Given the description of an element on the screen output the (x, y) to click on. 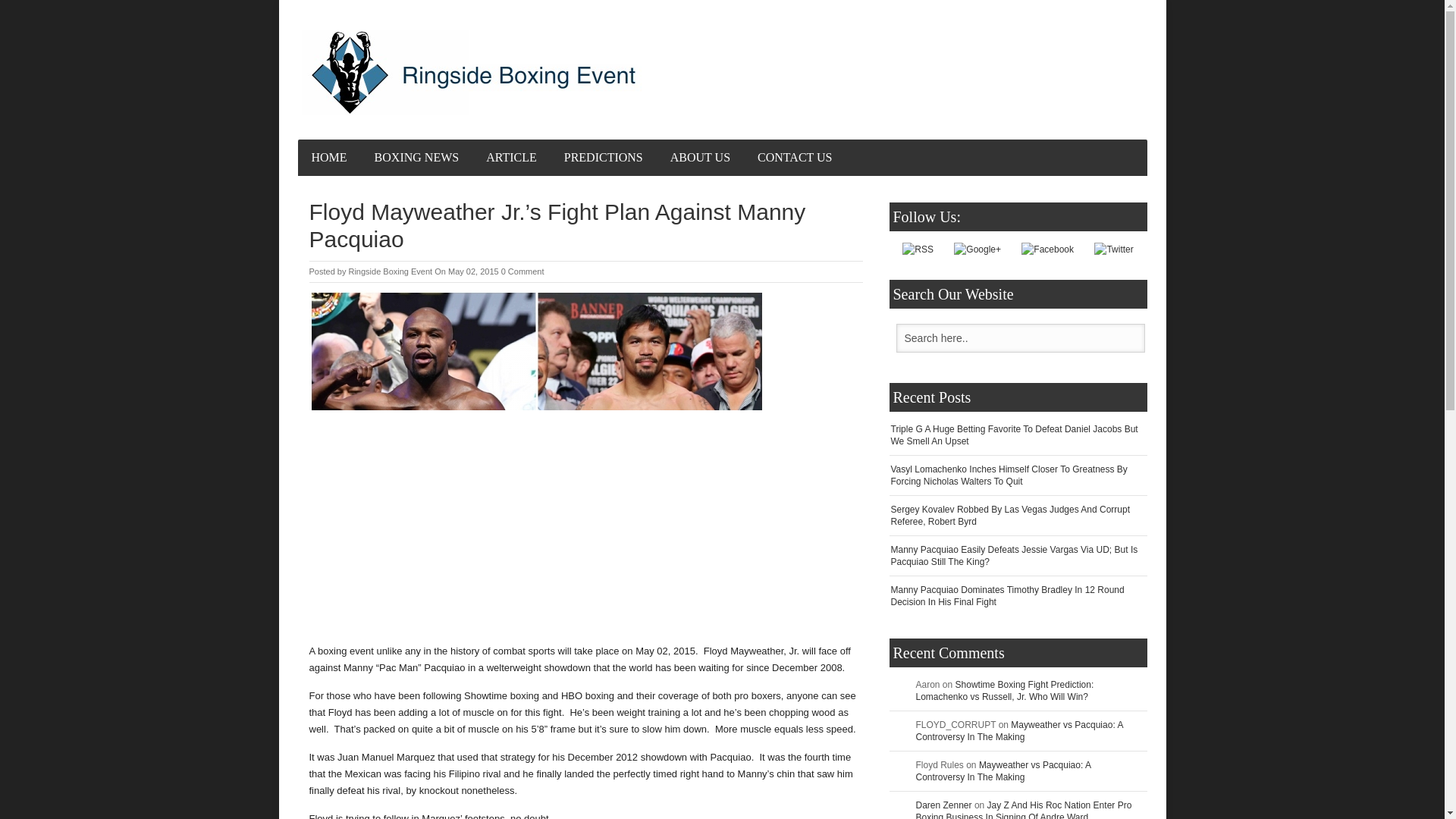
Search here.. (1020, 337)
Ringside Boxing Event (389, 271)
BOXING NEWS (417, 157)
PREDICTIONS (603, 157)
0 Comment (522, 271)
Rss (917, 249)
Facebook (1048, 249)
